Given the description of an element on the screen output the (x, y) to click on. 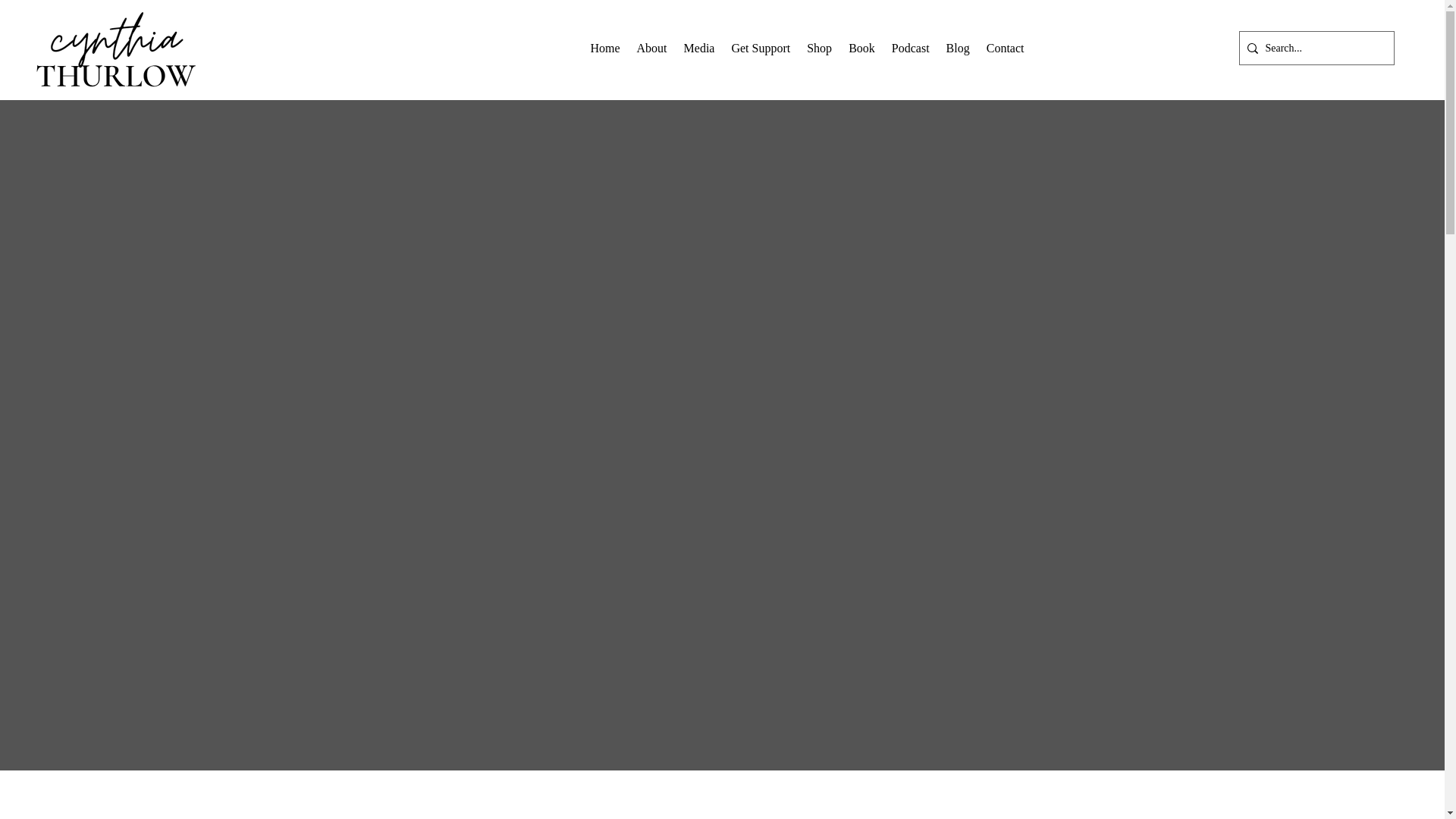
Home (604, 48)
Shop (819, 48)
Podcast (910, 48)
Blog (957, 48)
Contact (1005, 48)
Media (699, 48)
About (882, 48)
Book (651, 48)
Get Support (861, 48)
